Given the description of an element on the screen output the (x, y) to click on. 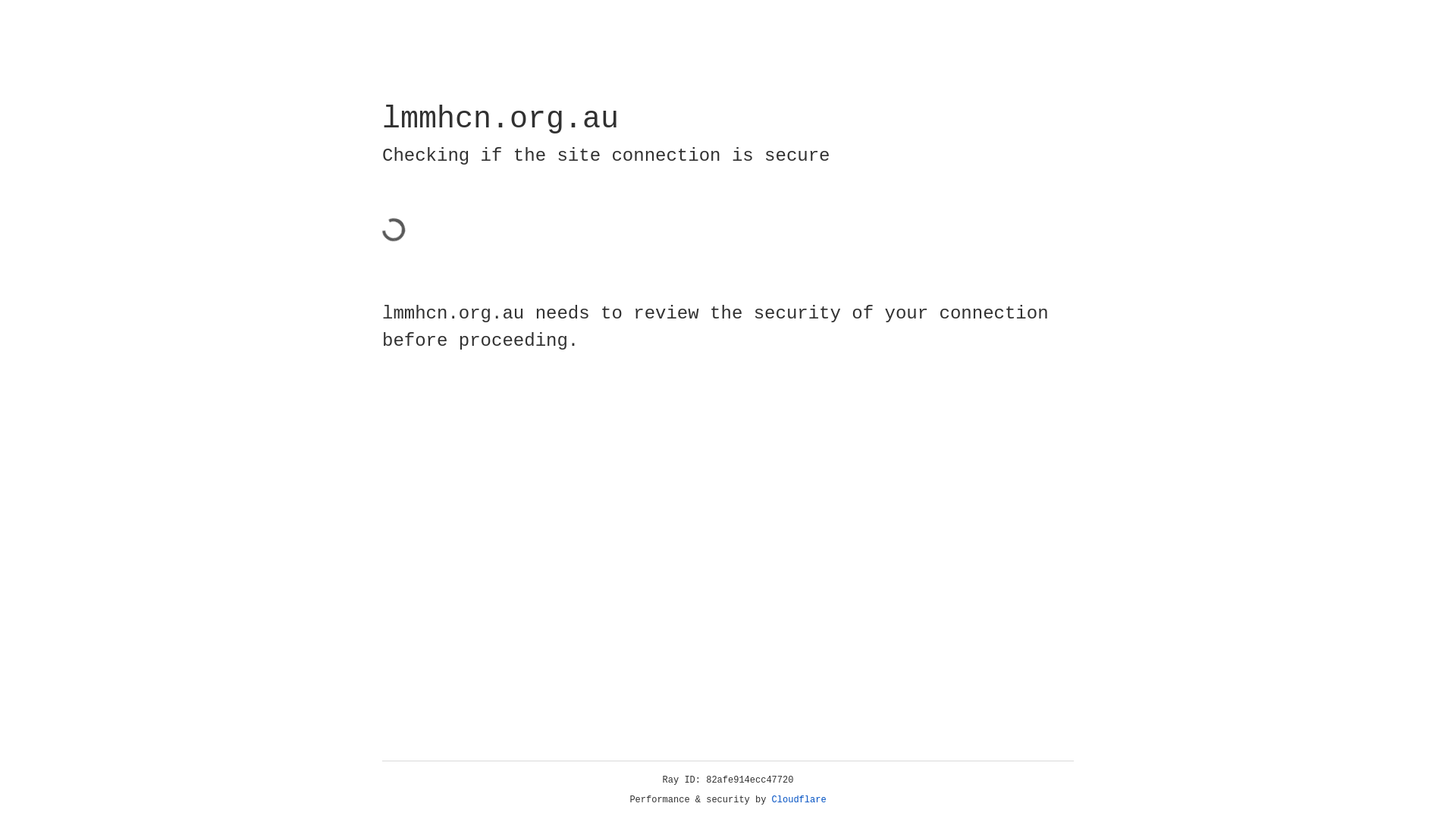
Cloudflare Element type: text (798, 799)
